Given the description of an element on the screen output the (x, y) to click on. 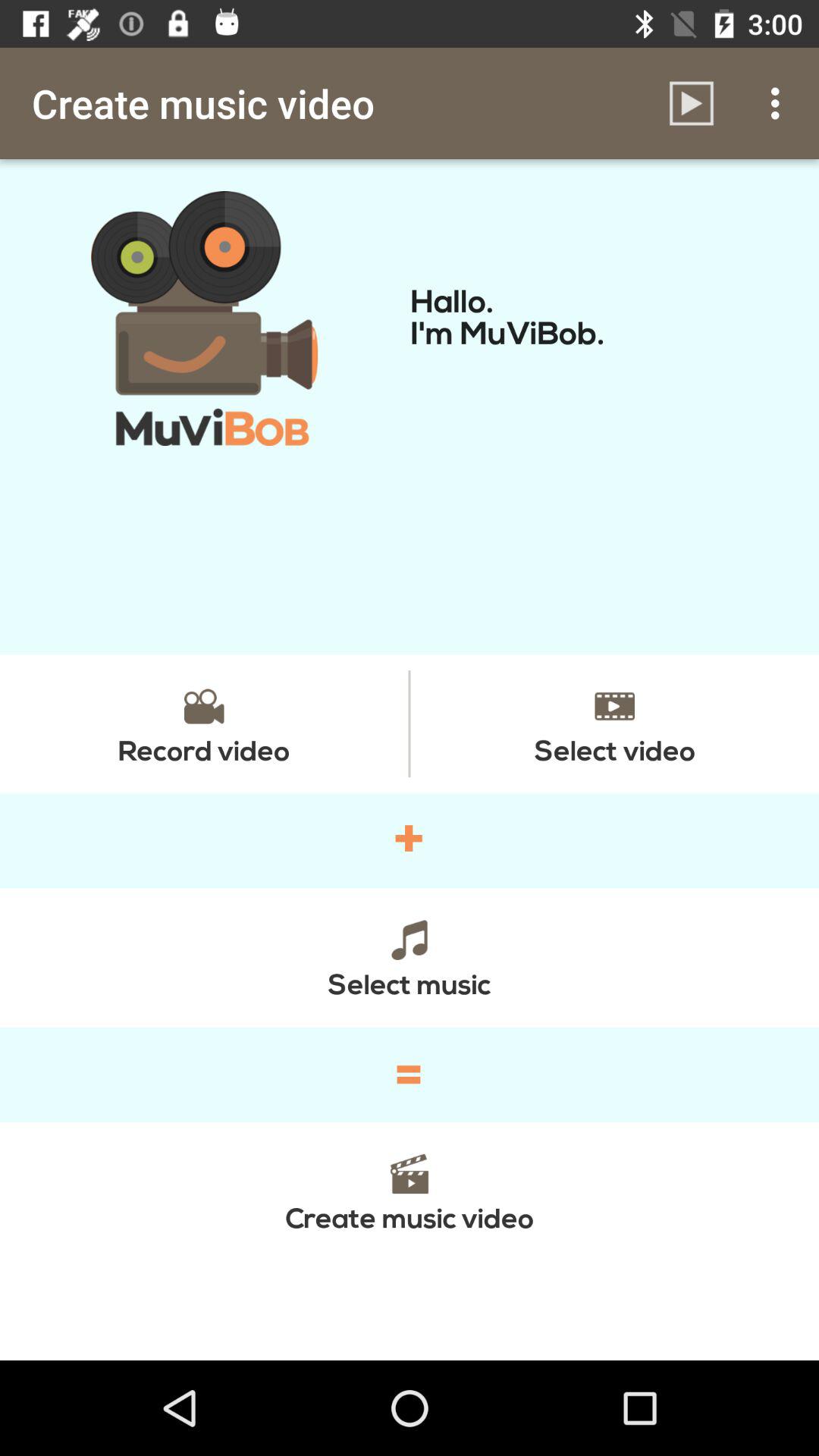
choose select music item (409, 957)
